Given the description of an element on the screen output the (x, y) to click on. 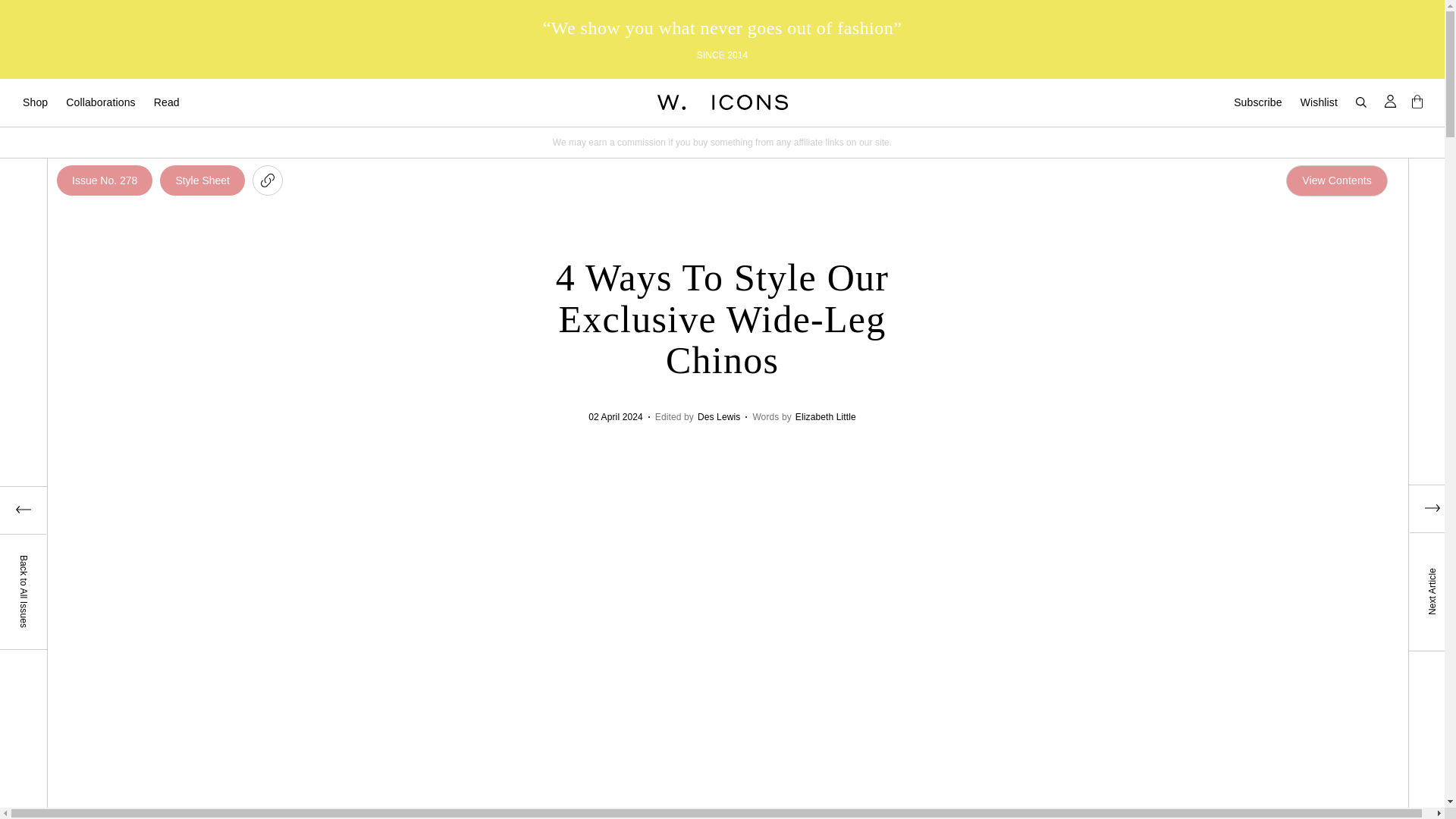
Shop (34, 102)
Collaborations (100, 102)
